Given the description of an element on the screen output the (x, y) to click on. 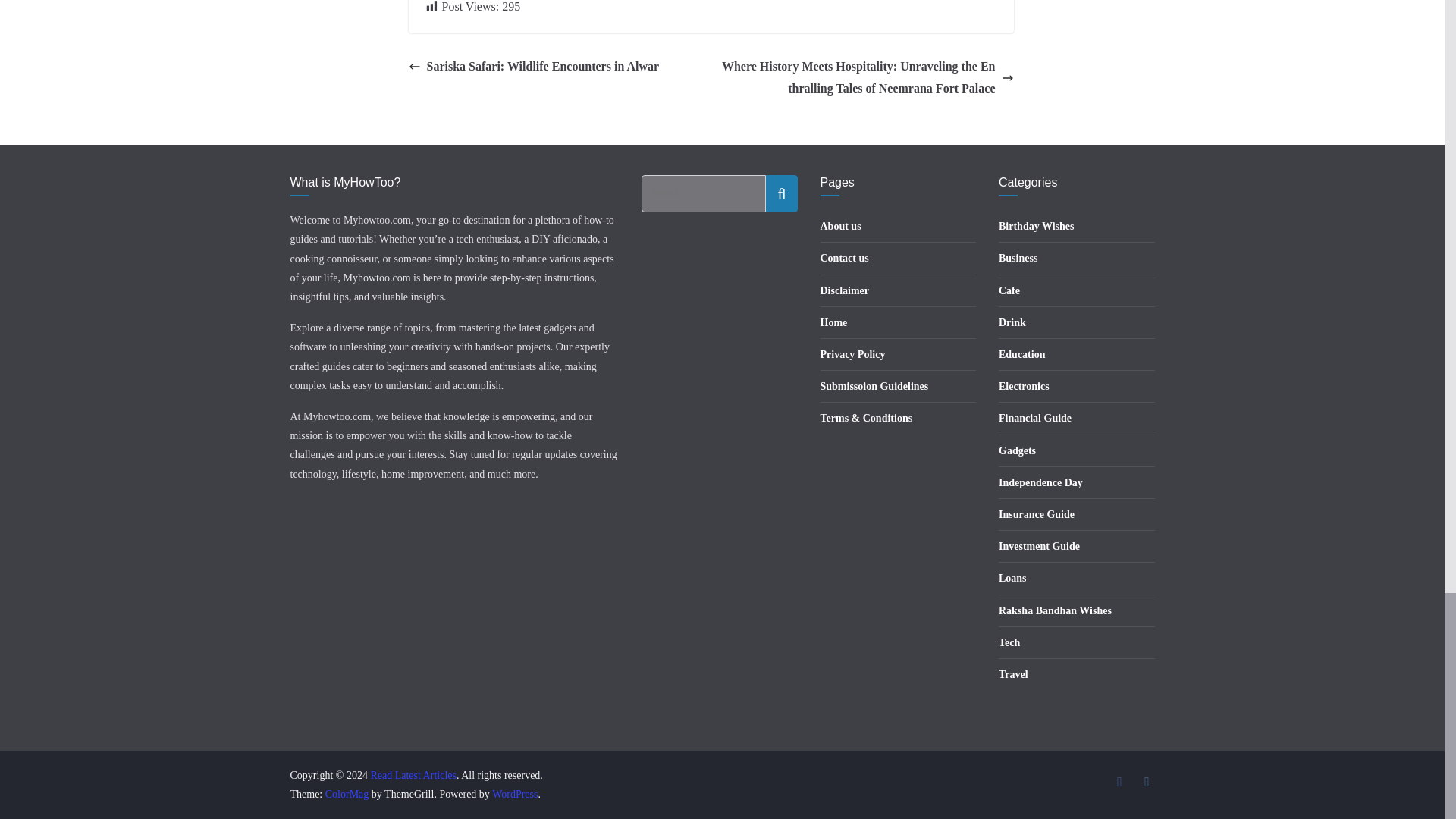
Privacy Policy (853, 354)
Business (1017, 257)
Electronics (1023, 386)
Birthday Wishes (1036, 225)
ColorMag (346, 794)
WordPress (514, 794)
Read Latest Articles (413, 775)
Home (834, 322)
Drink (1012, 322)
Disclaimer (845, 290)
Gadgets (1016, 450)
Contact us (845, 257)
Cafe (1009, 290)
Education (1021, 354)
